Given the description of an element on the screen output the (x, y) to click on. 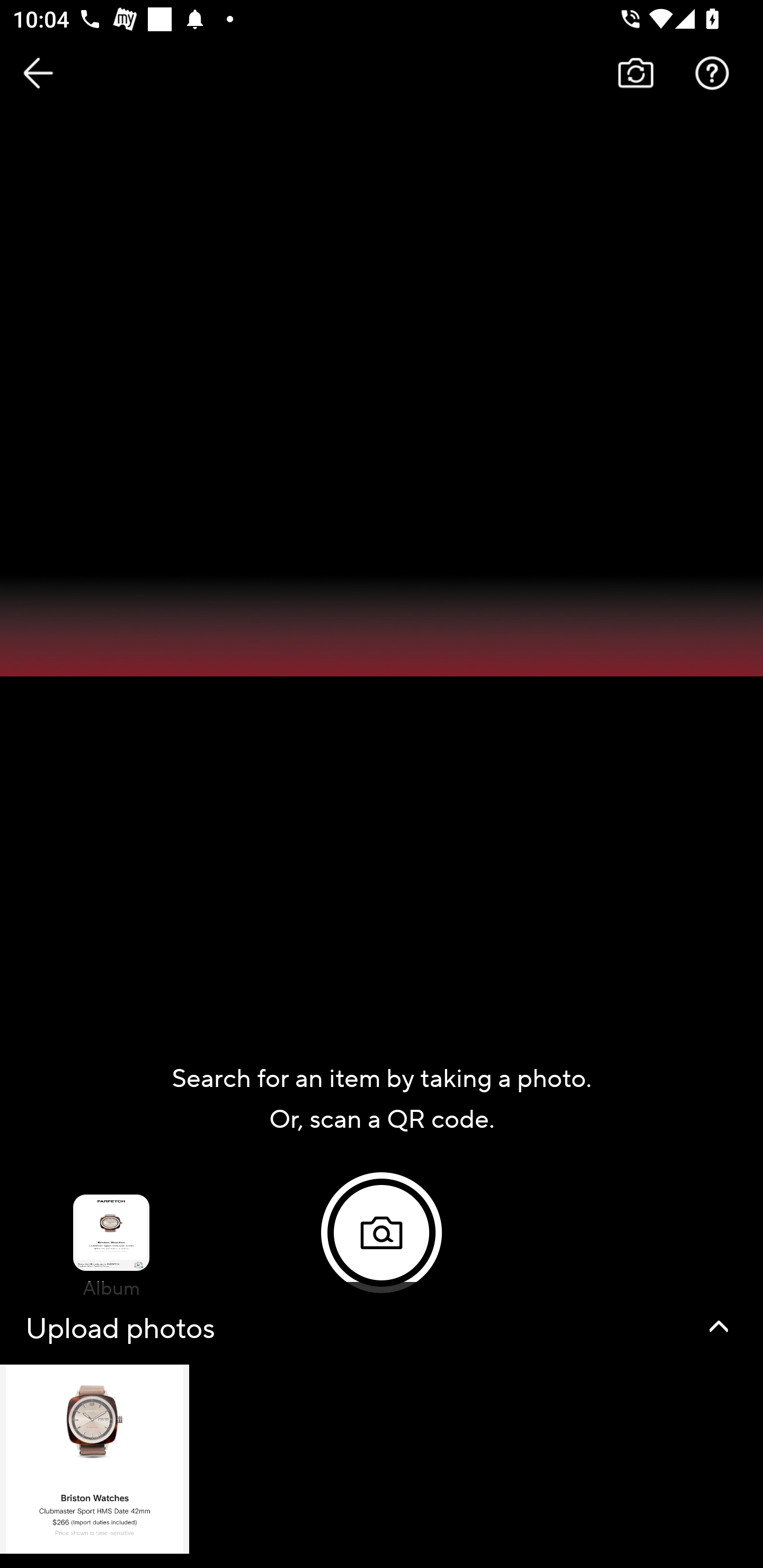
Upload photos  (381, 1425)
 (718, 1326)
